Given the description of an element on the screen output the (x, y) to click on. 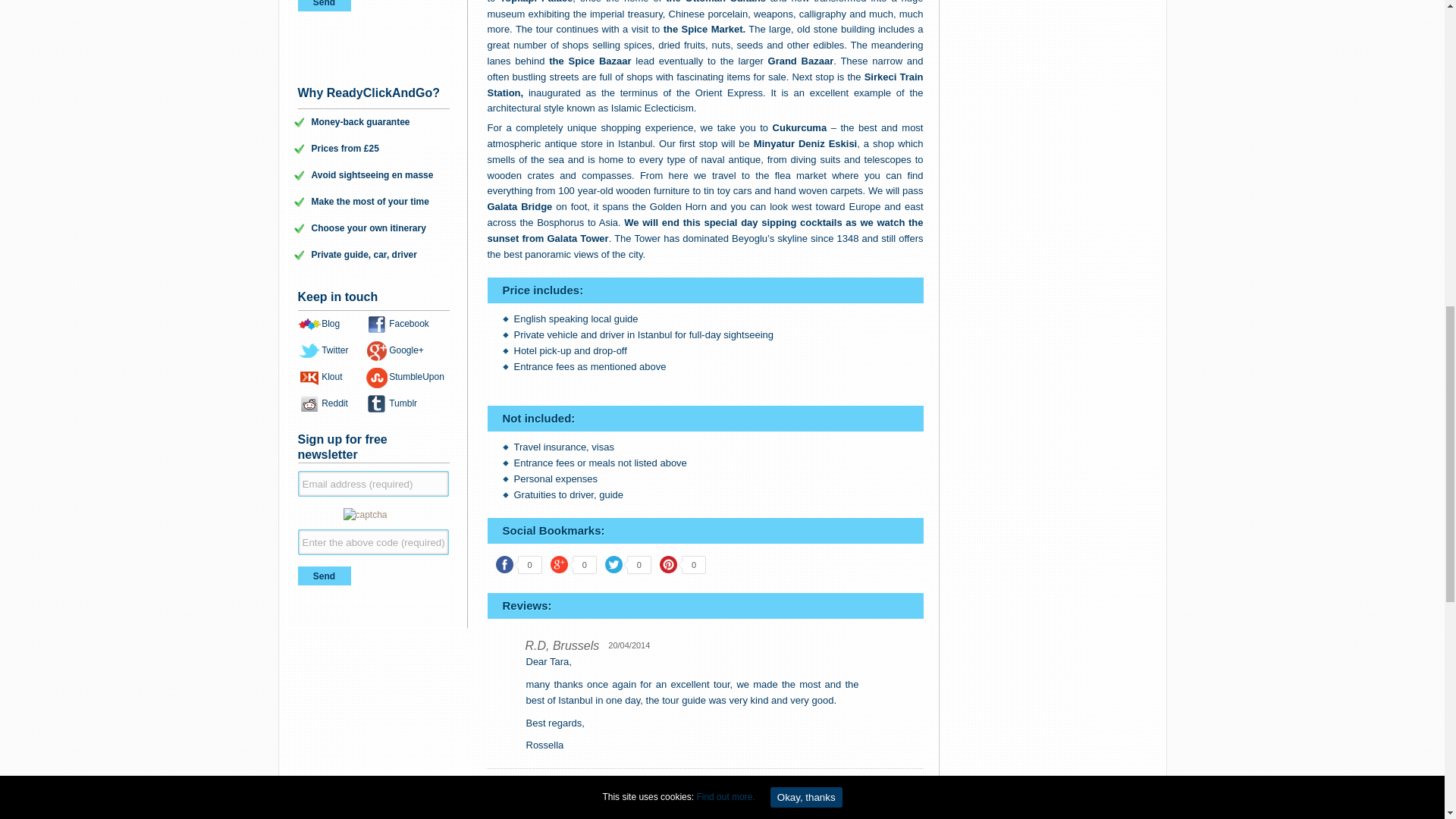
Twitter (334, 349)
Send (323, 575)
Twitter (613, 564)
Facebook (505, 564)
Facebook (408, 323)
Send (323, 575)
Tumblr (402, 403)
Klout (331, 376)
Send (323, 5)
Send (323, 5)
